Given the description of an element on the screen output the (x, y) to click on. 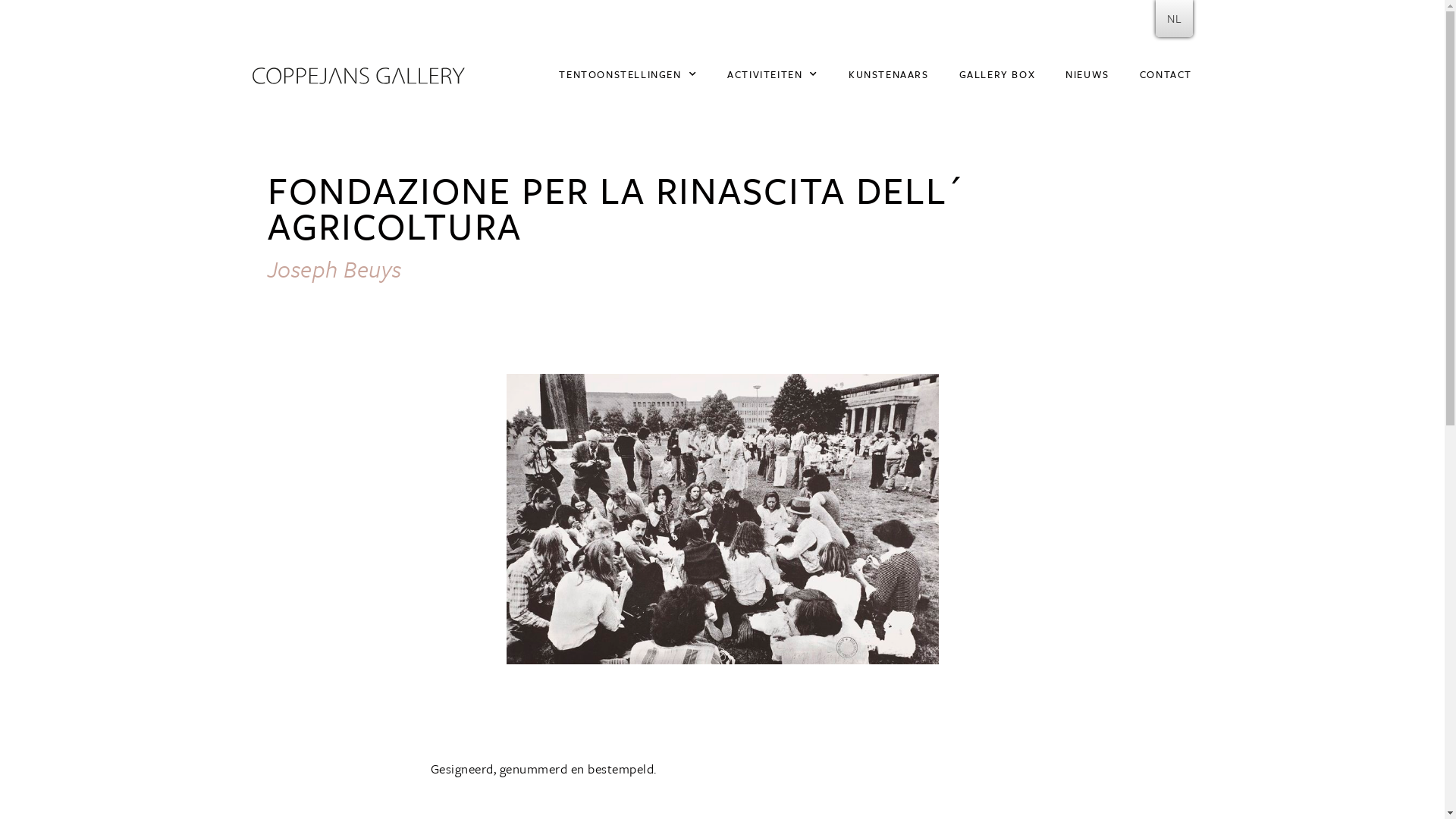
CONTACT Element type: text (1165, 73)
TENTOONSTELLINGEN Element type: text (627, 73)
Joseph Beuys Element type: text (333, 268)
GALLERY BOX Element type: text (997, 73)
KUNSTENAARS Element type: text (888, 73)
NL Element type: text (1173, 18)
NIEUWS Element type: text (1087, 73)
ACTIVITEITEN Element type: text (772, 73)
